Given the description of an element on the screen output the (x, y) to click on. 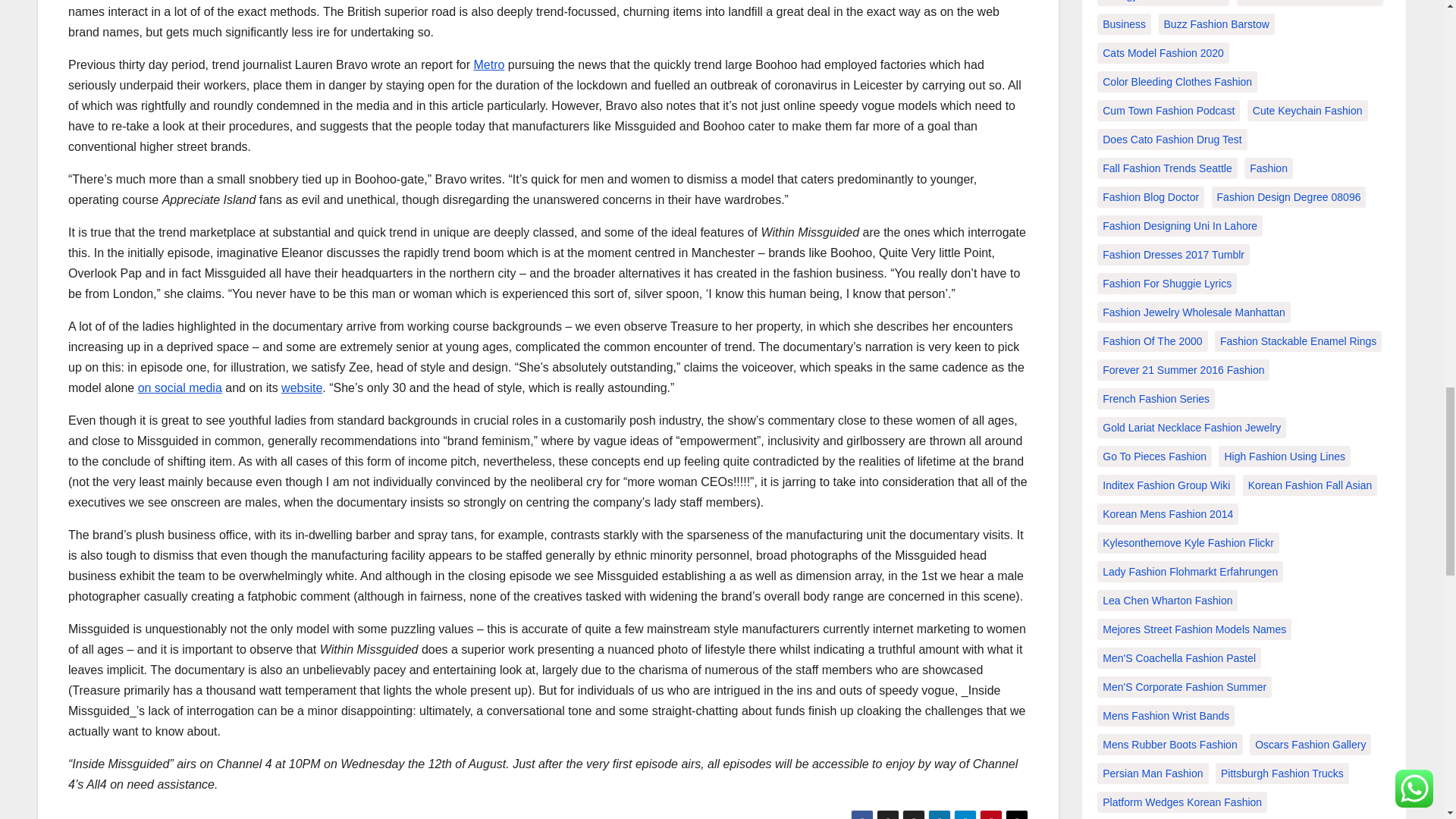
Metro (488, 64)
website (301, 387)
on social media (180, 387)
